Given the description of an element on the screen output the (x, y) to click on. 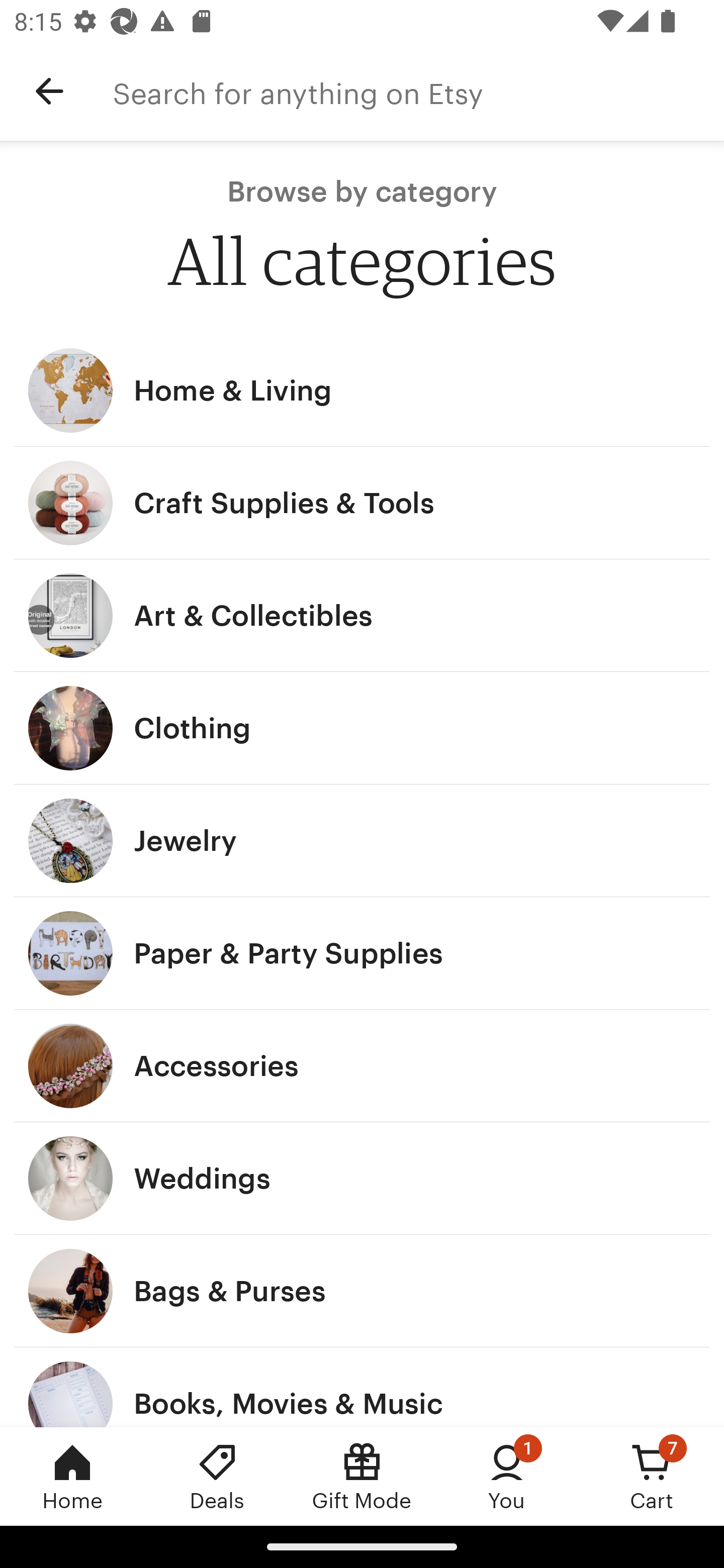
Navigate up (49, 91)
Search for anything on Etsy (418, 91)
Home & Living (361, 389)
Craft Supplies & Tools (361, 502)
Art & Collectibles (361, 615)
Clothing (361, 728)
Jewelry (361, 840)
Paper & Party Supplies (361, 952)
Accessories (361, 1065)
Weddings (361, 1178)
Bags & Purses (361, 1290)
Books, Movies & Music (361, 1386)
Deals (216, 1475)
Gift Mode (361, 1475)
You, 1 new notification You (506, 1475)
Cart, 7 new notifications Cart (651, 1475)
